Given the description of an element on the screen output the (x, y) to click on. 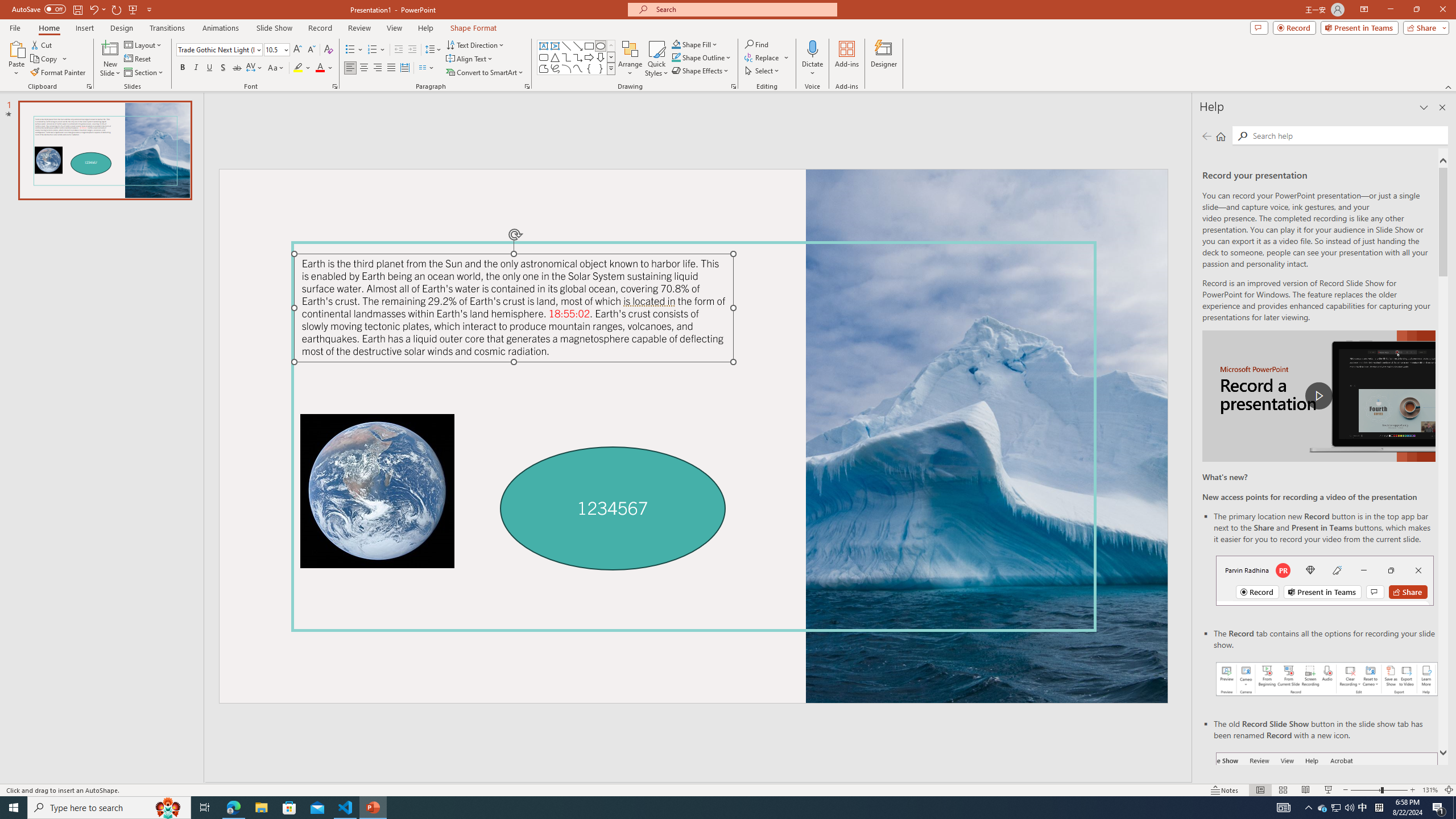
Align Right (377, 67)
Format Object... (733, 85)
Collapse the Ribbon (1448, 86)
Change Case (276, 67)
Font Size (276, 49)
Numbering (376, 49)
Open (285, 49)
Isosceles Triangle (554, 57)
Columns (426, 67)
Reading View (1305, 790)
Text Direction (476, 44)
Slide Sorter (1282, 790)
Zoom In (1412, 790)
Reset (138, 58)
Ribbon Display Options (1364, 9)
